Given the description of an element on the screen output the (x, y) to click on. 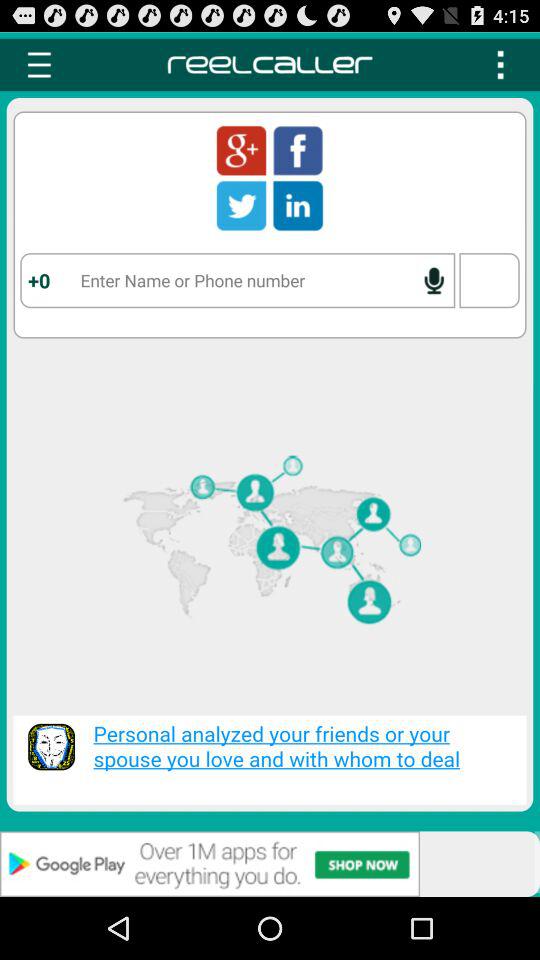
using the facebook (297, 150)
